Given the description of an element on the screen output the (x, y) to click on. 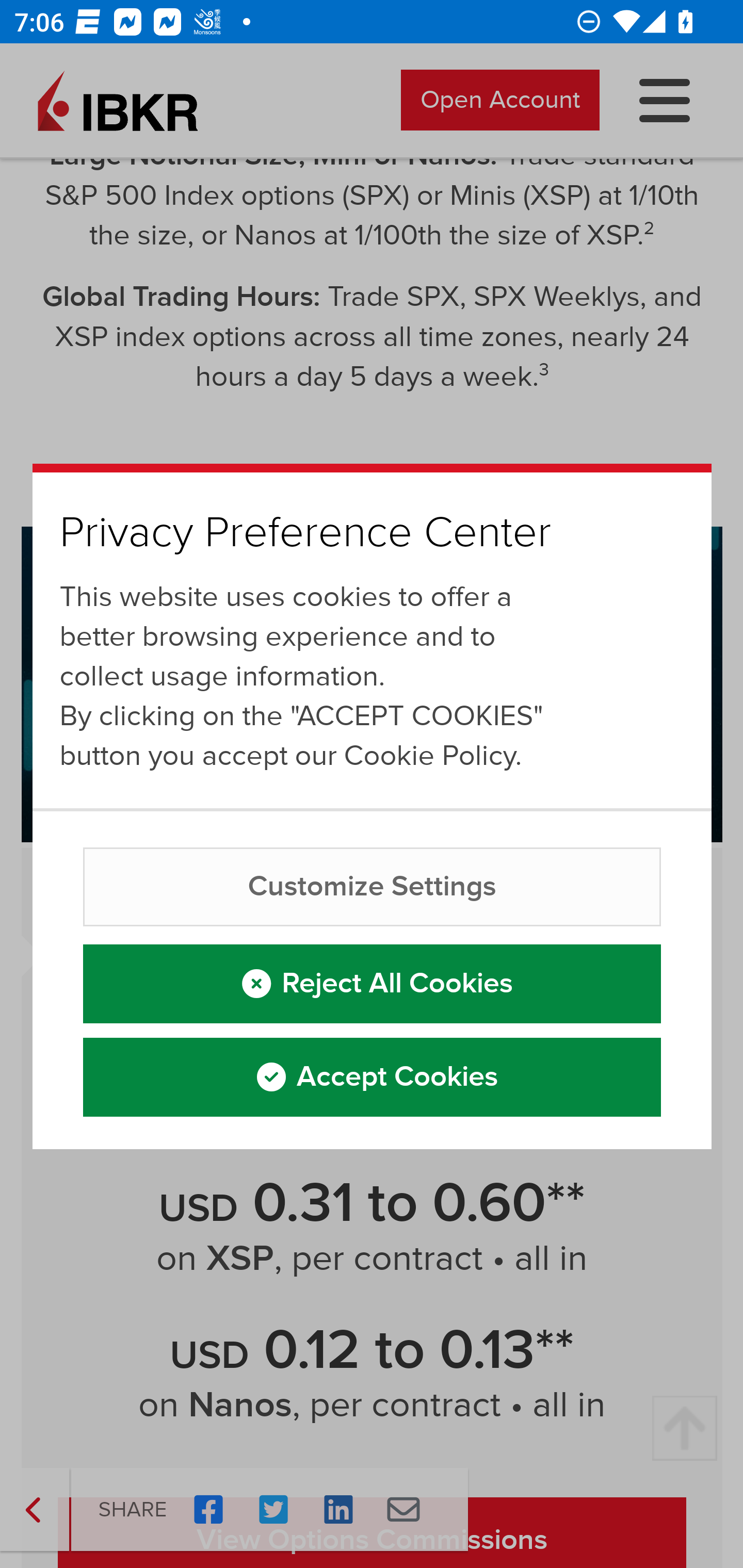
Customize Settings (372, 887)
 Reject All Cookies  Reject All Cookies (372, 984)
 Accept Cookies  Accept Cookies (372, 1076)
